Given the description of an element on the screen output the (x, y) to click on. 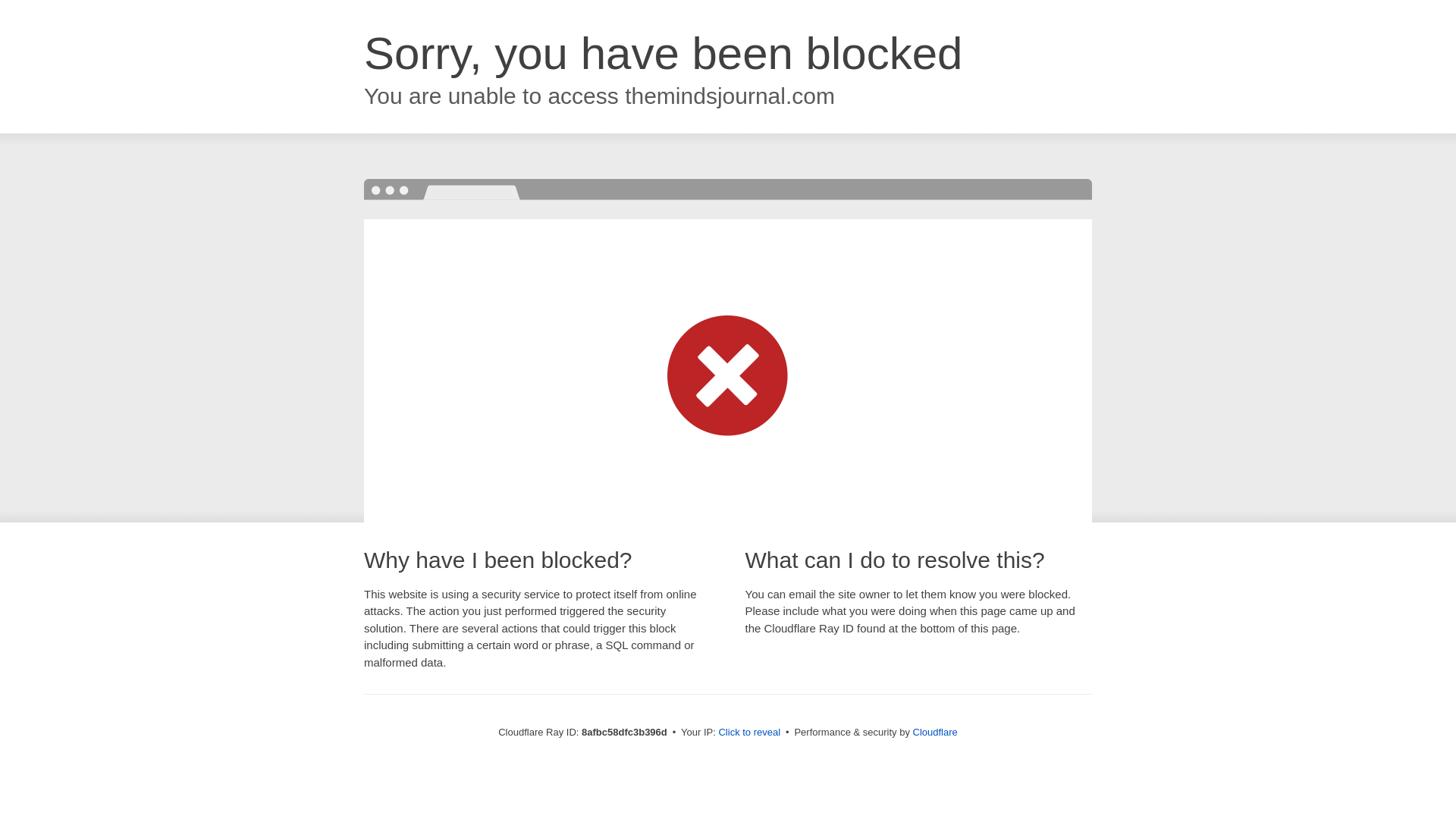
Click to reveal (748, 732)
Cloudflare (935, 731)
